Given the description of an element on the screen output the (x, y) to click on. 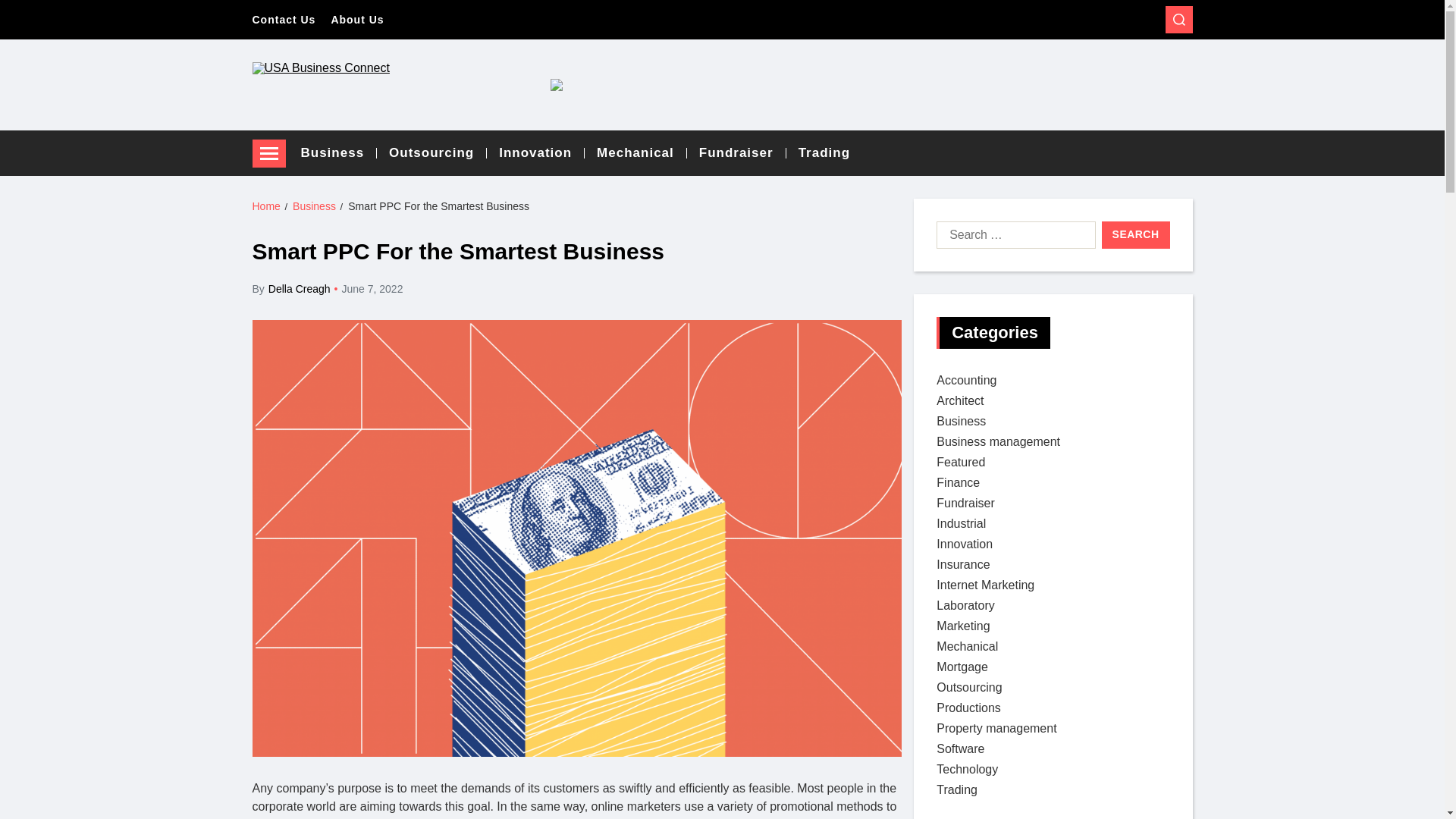
Business (314, 205)
Outsourcing (437, 153)
Home (265, 205)
Della Creagh (298, 289)
Innovation (542, 153)
Business (960, 420)
About Us (357, 19)
USA Business Connect (351, 124)
Accounting (965, 379)
Search (1136, 234)
